Given the description of an element on the screen output the (x, y) to click on. 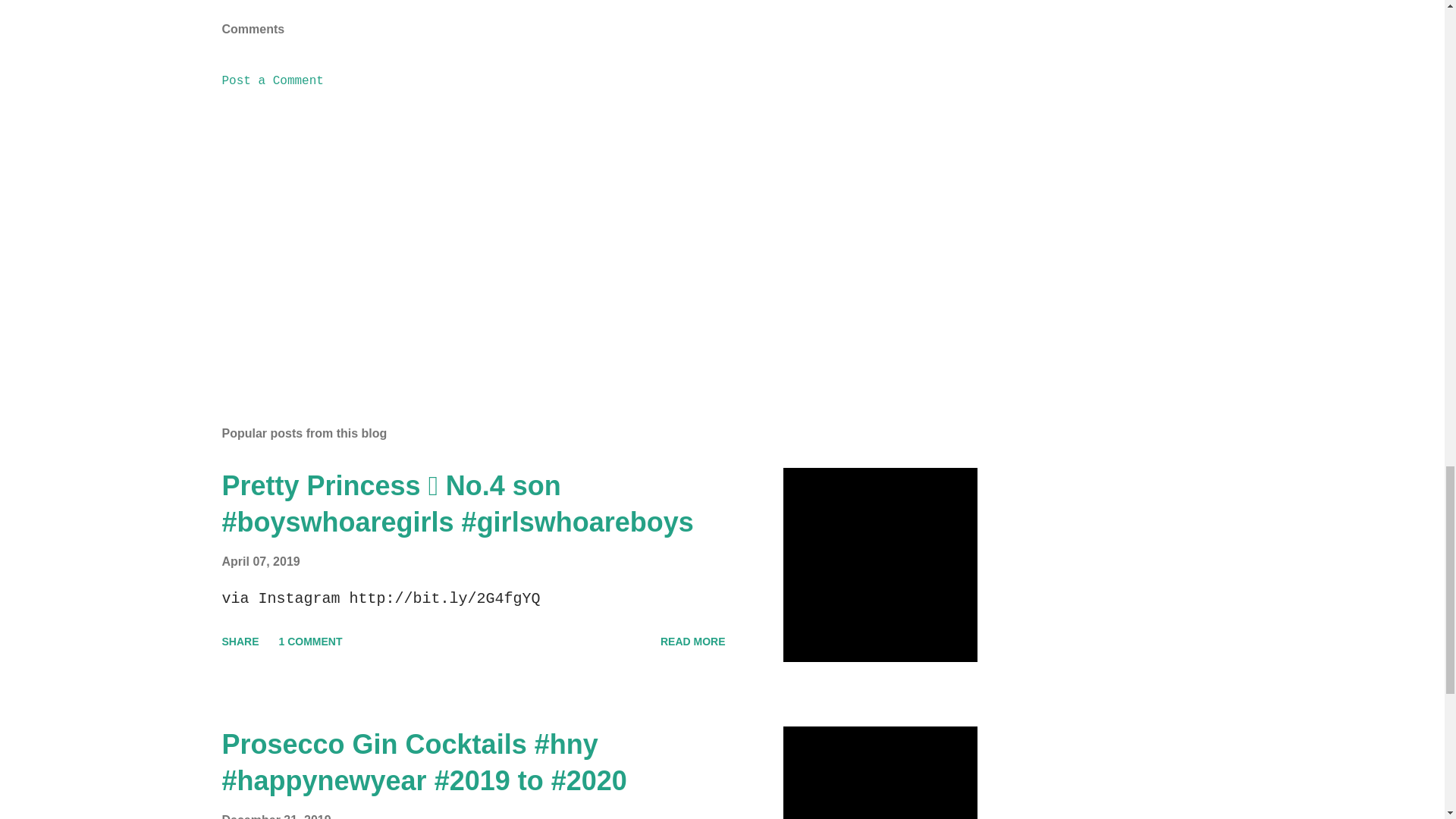
December 31, 2019 (275, 816)
Post a Comment (272, 80)
SHARE (239, 641)
SHARE (764, 3)
READ MORE (692, 641)
permanent link (260, 561)
1 COMMENT (311, 641)
April 07, 2019 (260, 561)
